Given the description of an element on the screen output the (x, y) to click on. 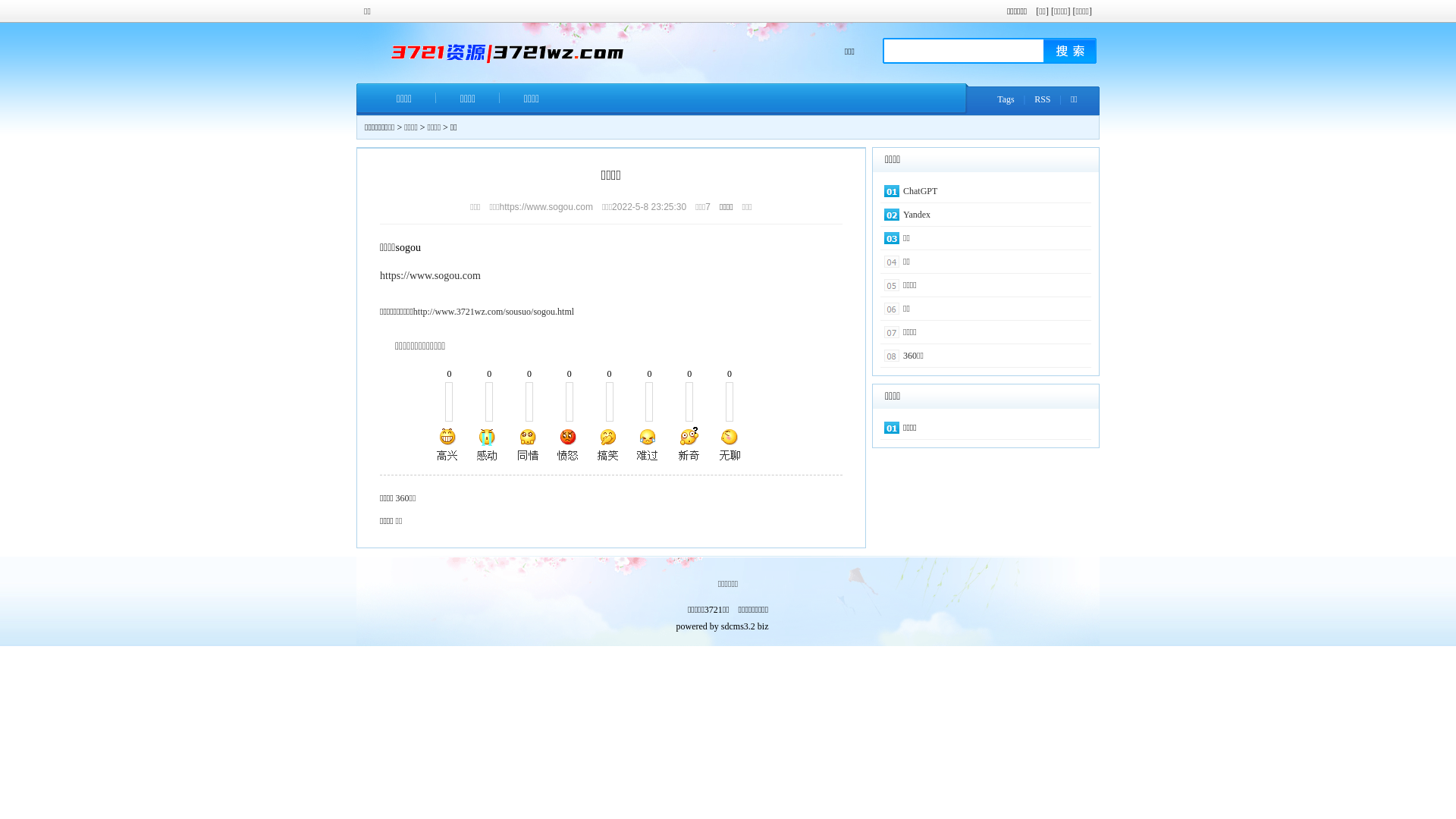
https://www.sogou.com Element type: text (429, 275)
Tags Element type: text (1005, 99)
Yandex Element type: text (916, 214)
ChatGPT Element type: text (920, 190)
RSS Element type: text (1042, 99)
http://www.3721wz.com/sousuo/sogou.html Element type: text (493, 311)
